Given the description of an element on the screen output the (x, y) to click on. 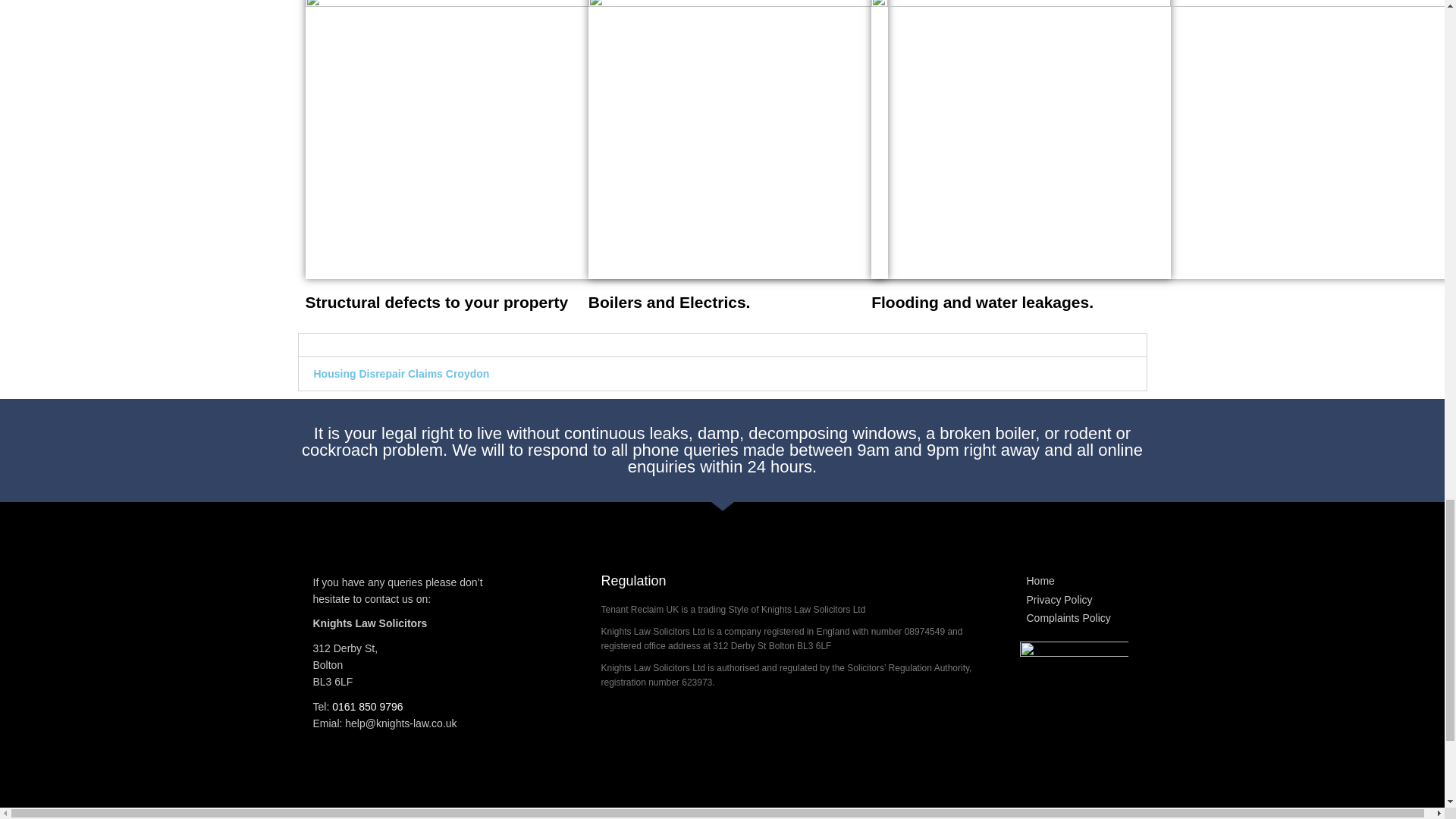
Housing Disrepair Claims Croydon (401, 373)
0161 850 9796 (367, 706)
Privacy Policy (1074, 600)
Complaints Policy (1074, 618)
Home (1074, 581)
